Given the description of an element on the screen output the (x, y) to click on. 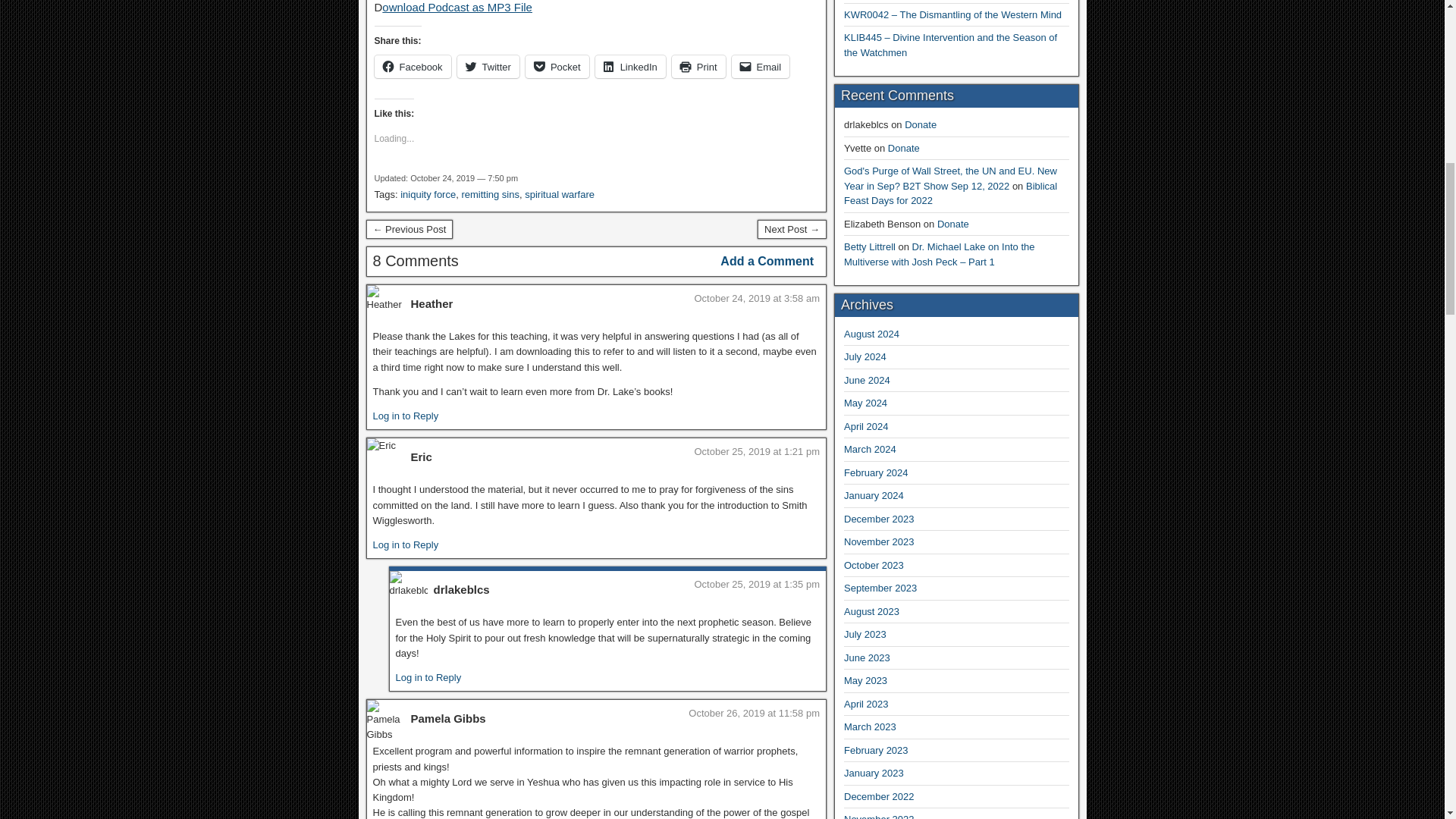
Facebook (412, 66)
Tabernacles and the Millennial Reign Part 1 (792, 229)
Pocket (557, 66)
Click to email a link to a friend (761, 66)
Email (761, 66)
Click to share on LinkedIn (630, 66)
Twitter (488, 66)
LinkedIn (630, 66)
Print (698, 66)
Feast of Trumpets: The King Speaks from His Throne Part 2 (408, 229)
ownload Podcast as MP3 File (456, 6)
Click to print (698, 66)
Click to share on Facebook (412, 66)
Click to share on Twitter (488, 66)
Click to share on Pocket (557, 66)
